Given the description of an element on the screen output the (x, y) to click on. 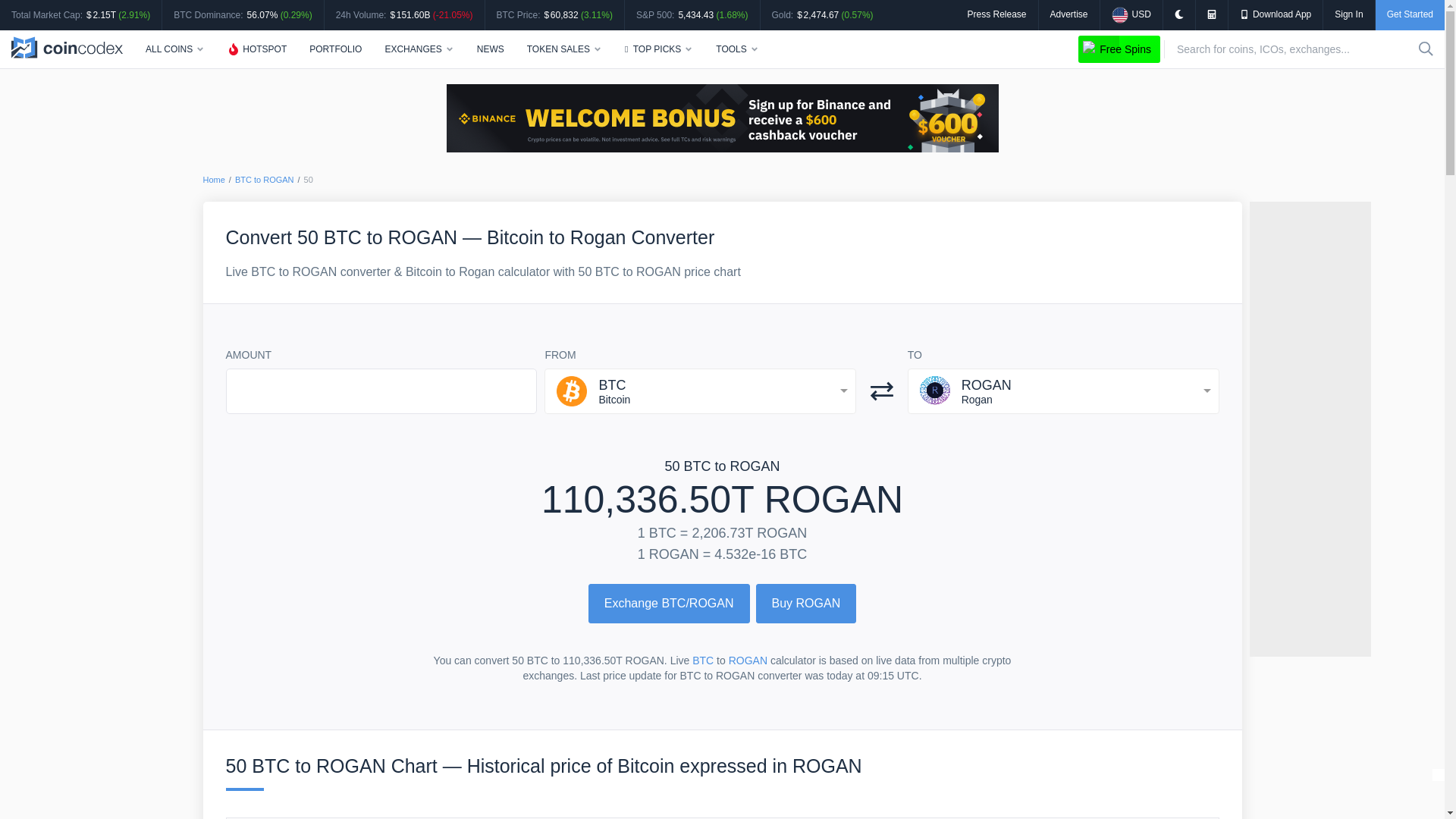
Free Spins (1119, 49)
Press Release (996, 14)
Advertise (1068, 14)
Home (214, 179)
HOTSPOT (256, 48)
PORTFOLIO (335, 48)
BTC (703, 660)
Buy ROGAN (806, 603)
BTC to ROGAN (264, 179)
ROGAN (748, 660)
